Given the description of an element on the screen output the (x, y) to click on. 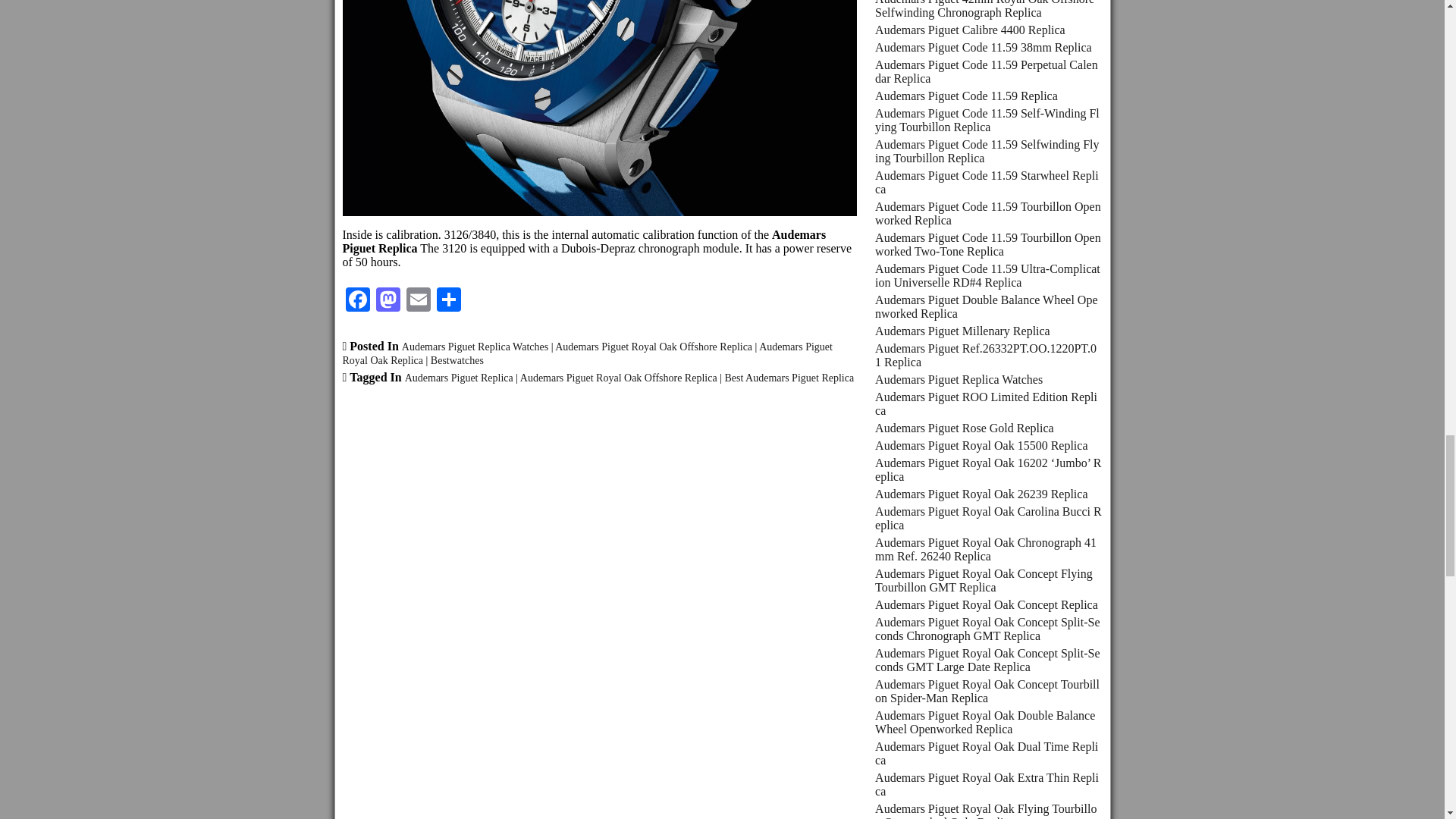
Mastodon (387, 301)
Audemars Piguet Replica (458, 378)
Audemars Piguet Royal Oak Offshore Replica (653, 346)
Mastodon (387, 301)
Email (418, 301)
Facebook (357, 301)
Audemars Piguet Royal Oak Replica (587, 353)
Audemars Piguet Replica Watches (474, 346)
Bestwatches (456, 360)
Best Audemars Piguet Replica (788, 378)
